Given the description of an element on the screen output the (x, y) to click on. 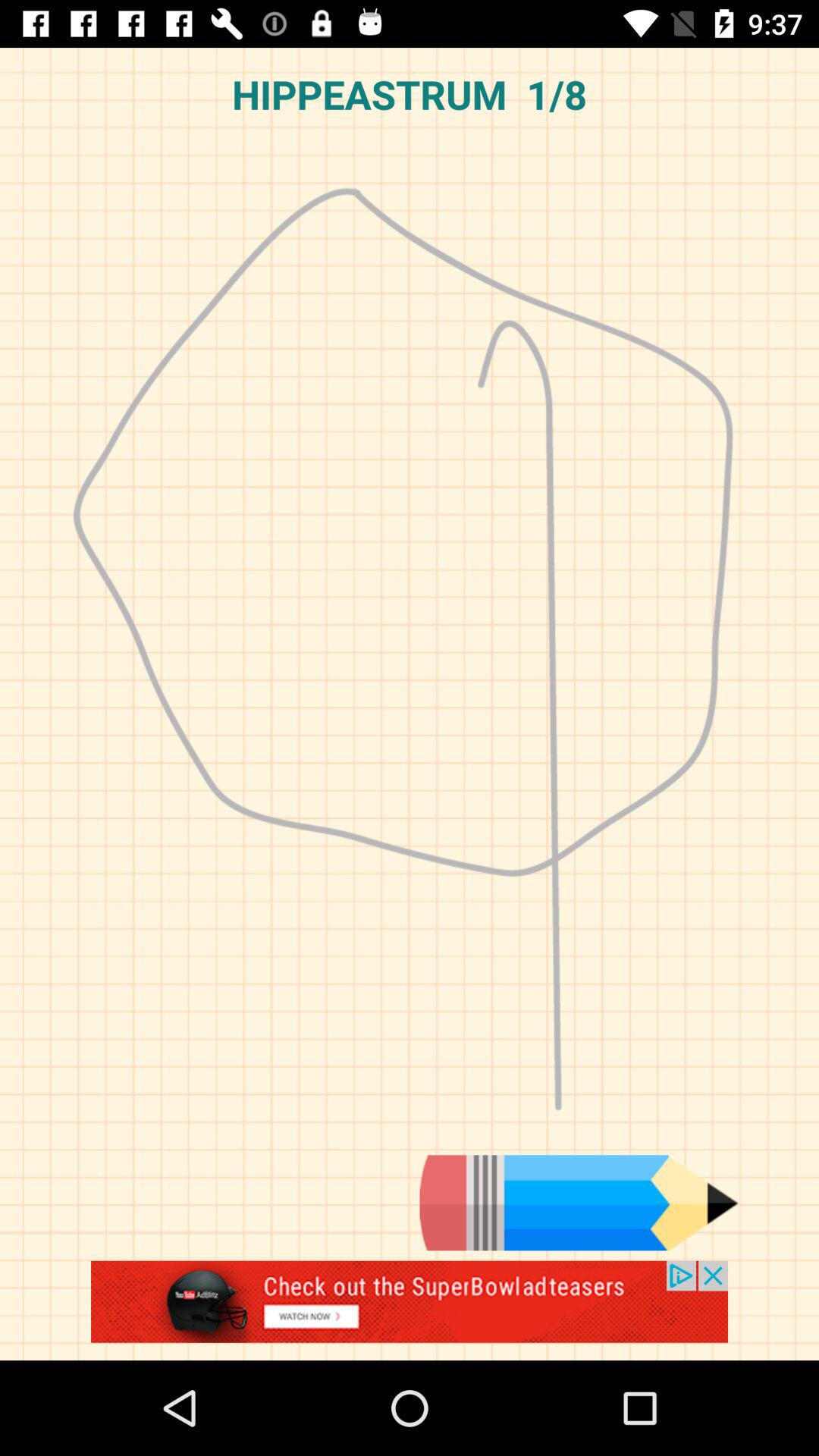
advertisement about youtube (409, 1310)
